Given the description of an element on the screen output the (x, y) to click on. 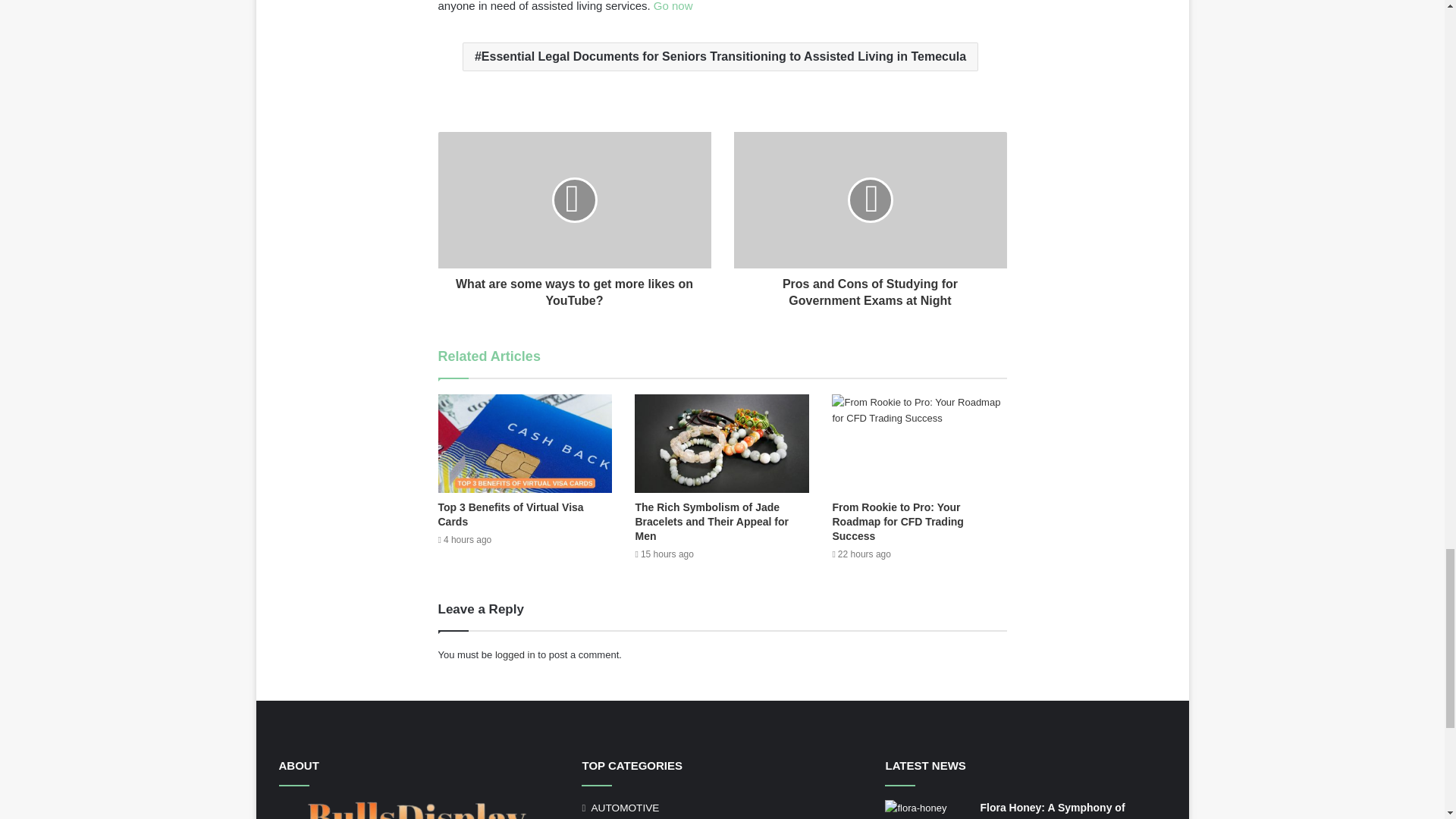
Go now (673, 6)
